Given the description of an element on the screen output the (x, y) to click on. 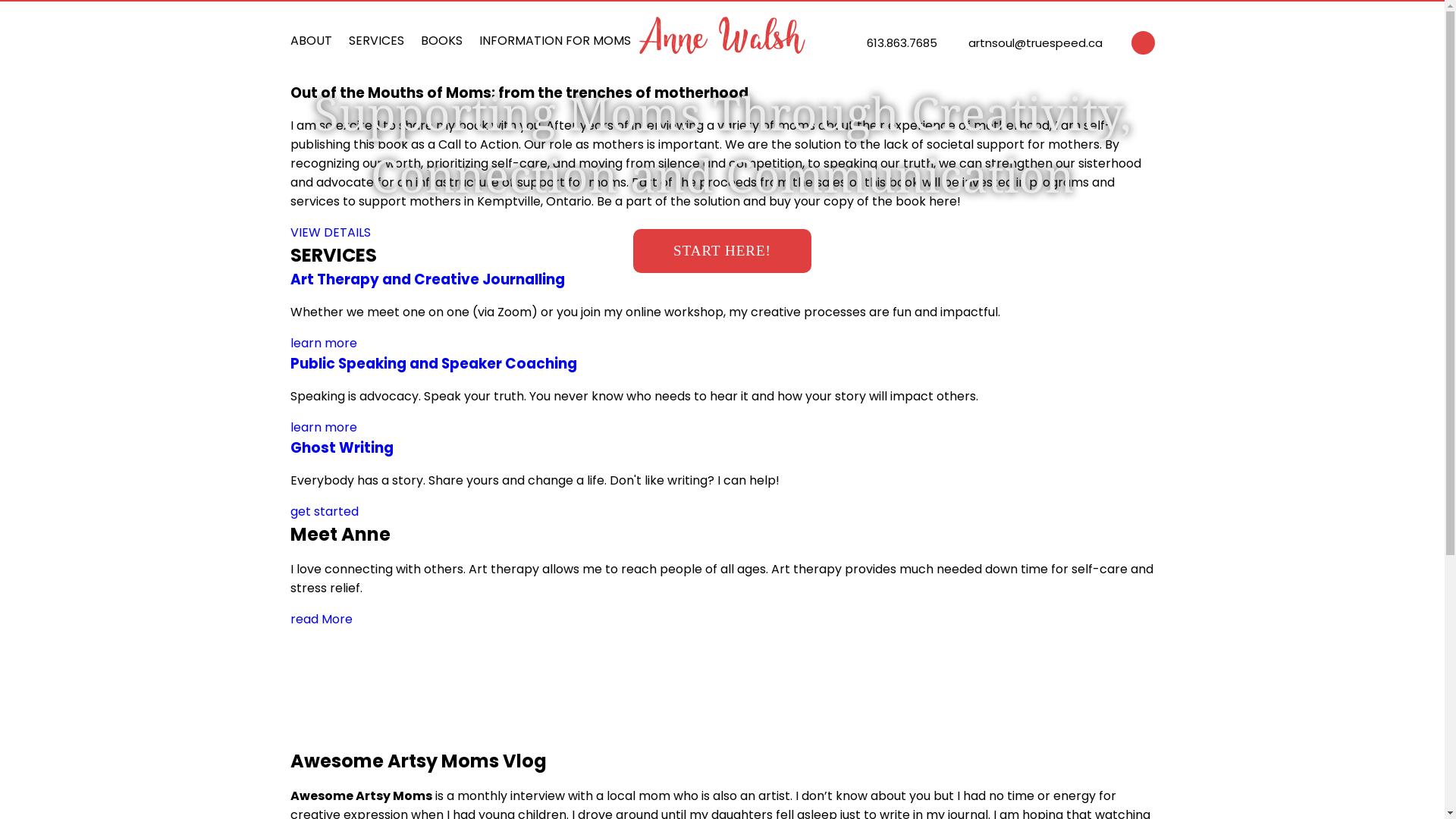
BOOKS Element type: text (440, 48)
SERVICES Element type: text (376, 48)
613.863.7685 Element type: text (901, 42)
Art Therapy and Creative Journalling Element type: text (426, 279)
INFORMATION FOR MOMS Element type: text (554, 48)
Ghost Writing Element type: text (340, 447)
Public Speaking and Speaker Coaching Element type: text (432, 363)
learn more Element type: text (322, 427)
START HERE! Element type: text (722, 251)
read More Element type: text (320, 618)
VIEW DETAILS Element type: text (329, 232)
artnsoul@truespeed.ca Element type: text (1034, 42)
learn more Element type: text (322, 342)
ABOUT Element type: text (310, 48)
get started Element type: text (323, 511)
